Given the description of an element on the screen output the (x, y) to click on. 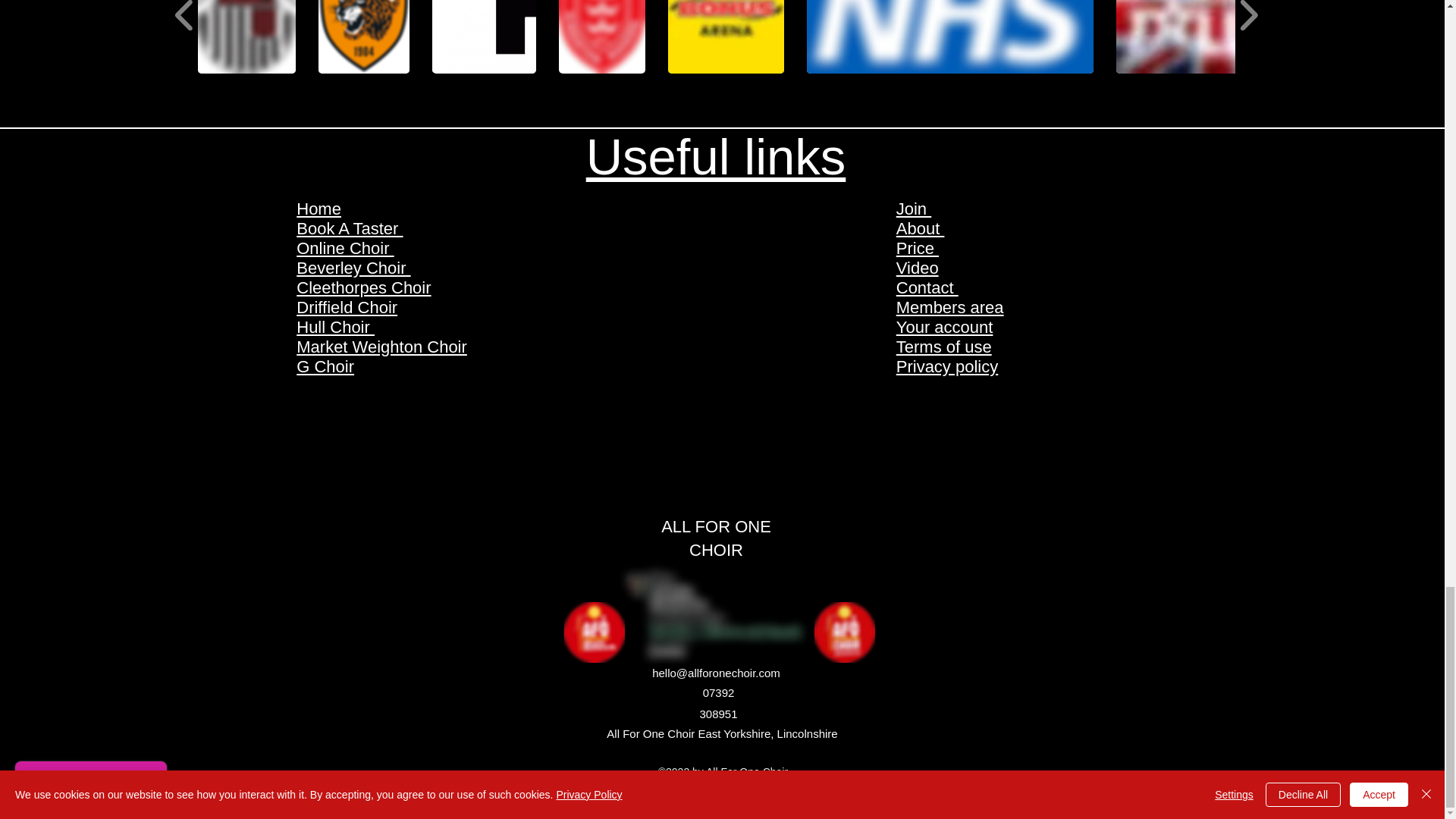
Driffield Choir (347, 307)
Home (318, 208)
Cleethorpes Choir (363, 287)
Book A Taster  (350, 228)
Beverley Choir  (353, 267)
Hull Choir  (335, 326)
Online Choir  (345, 248)
